Given the description of an element on the screen output the (x, y) to click on. 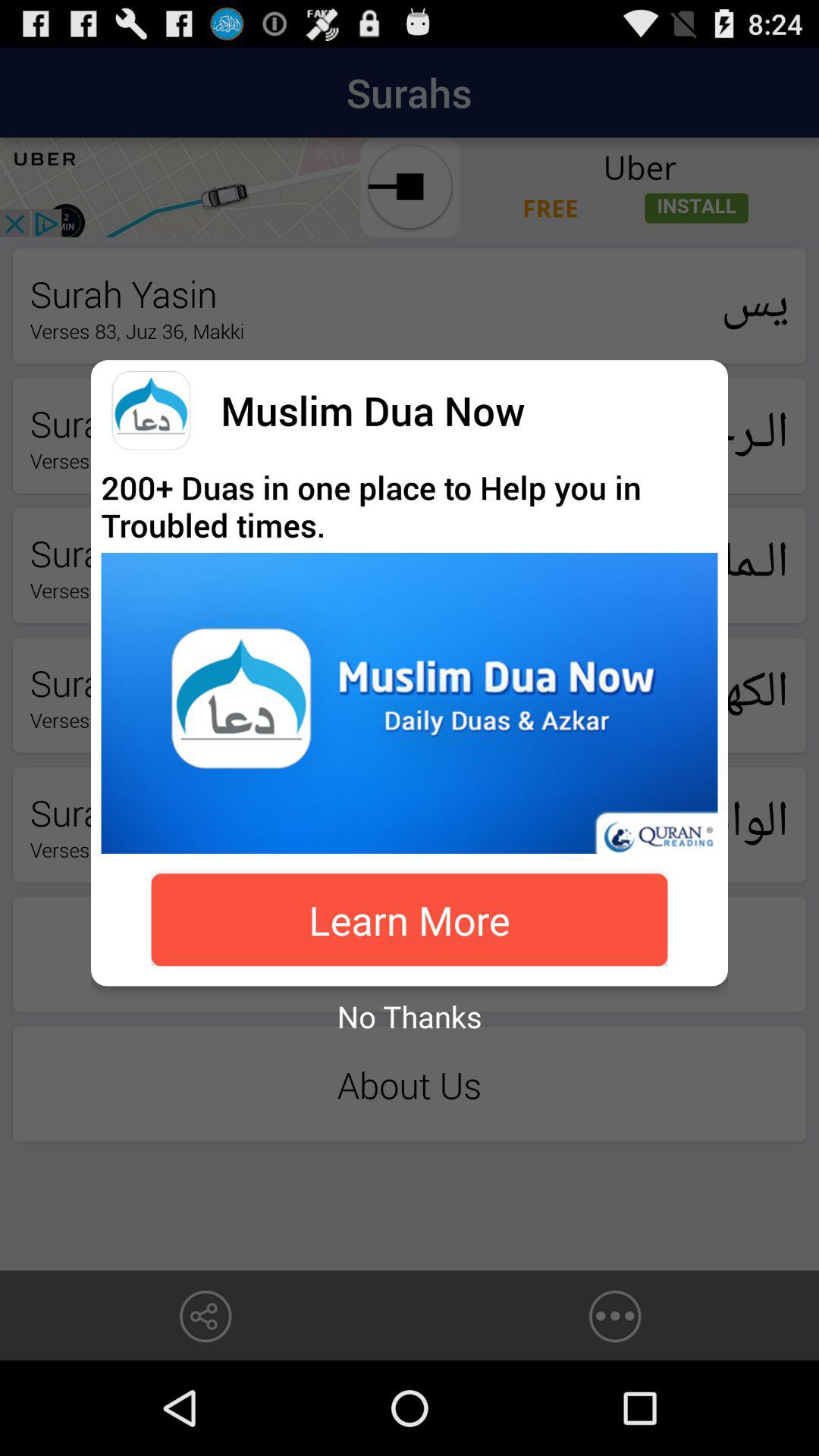
quran reading (409, 702)
